Given the description of an element on the screen output the (x, y) to click on. 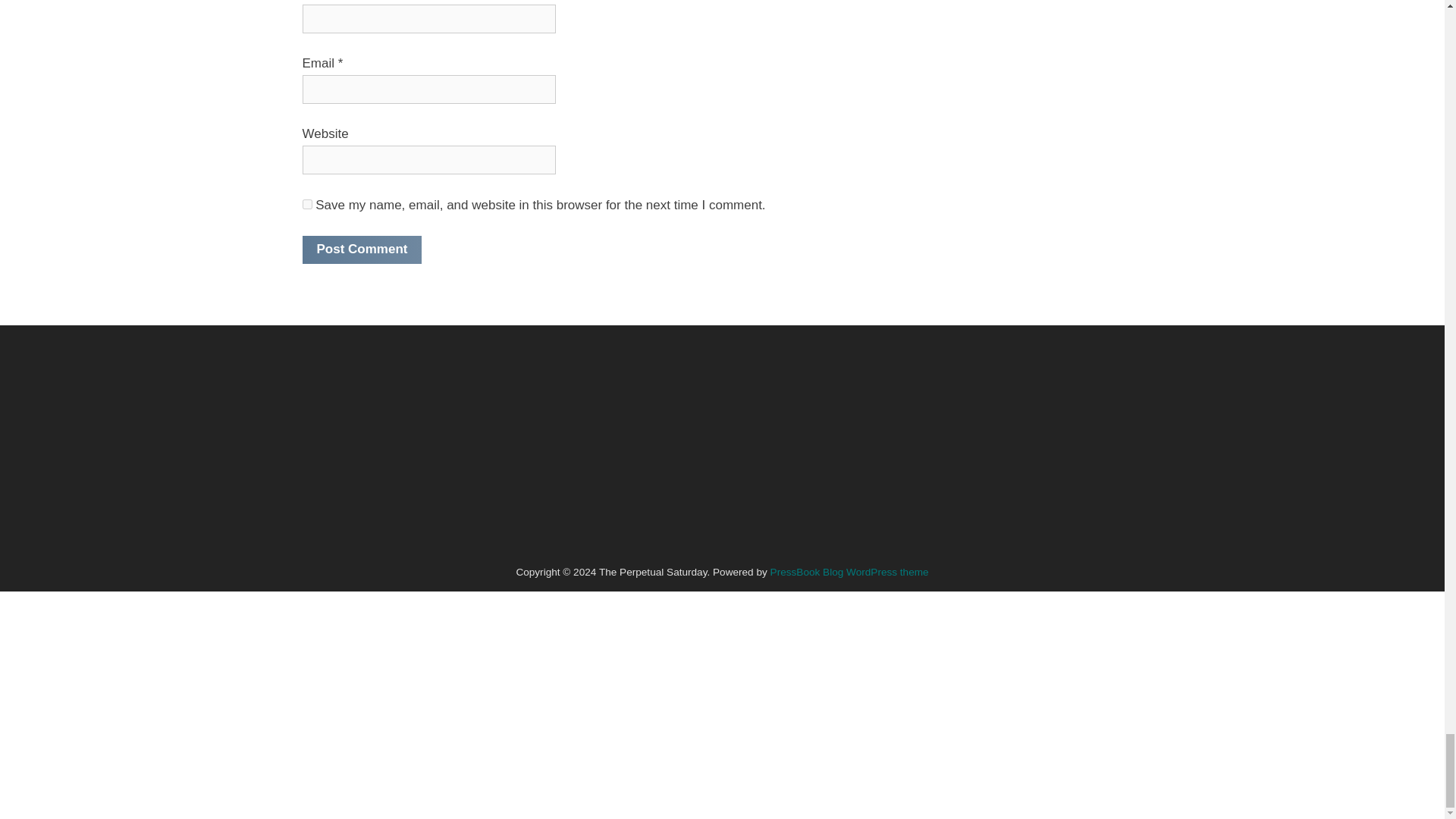
yes (306, 204)
Post Comment (361, 249)
